Given the description of an element on the screen output the (x, y) to click on. 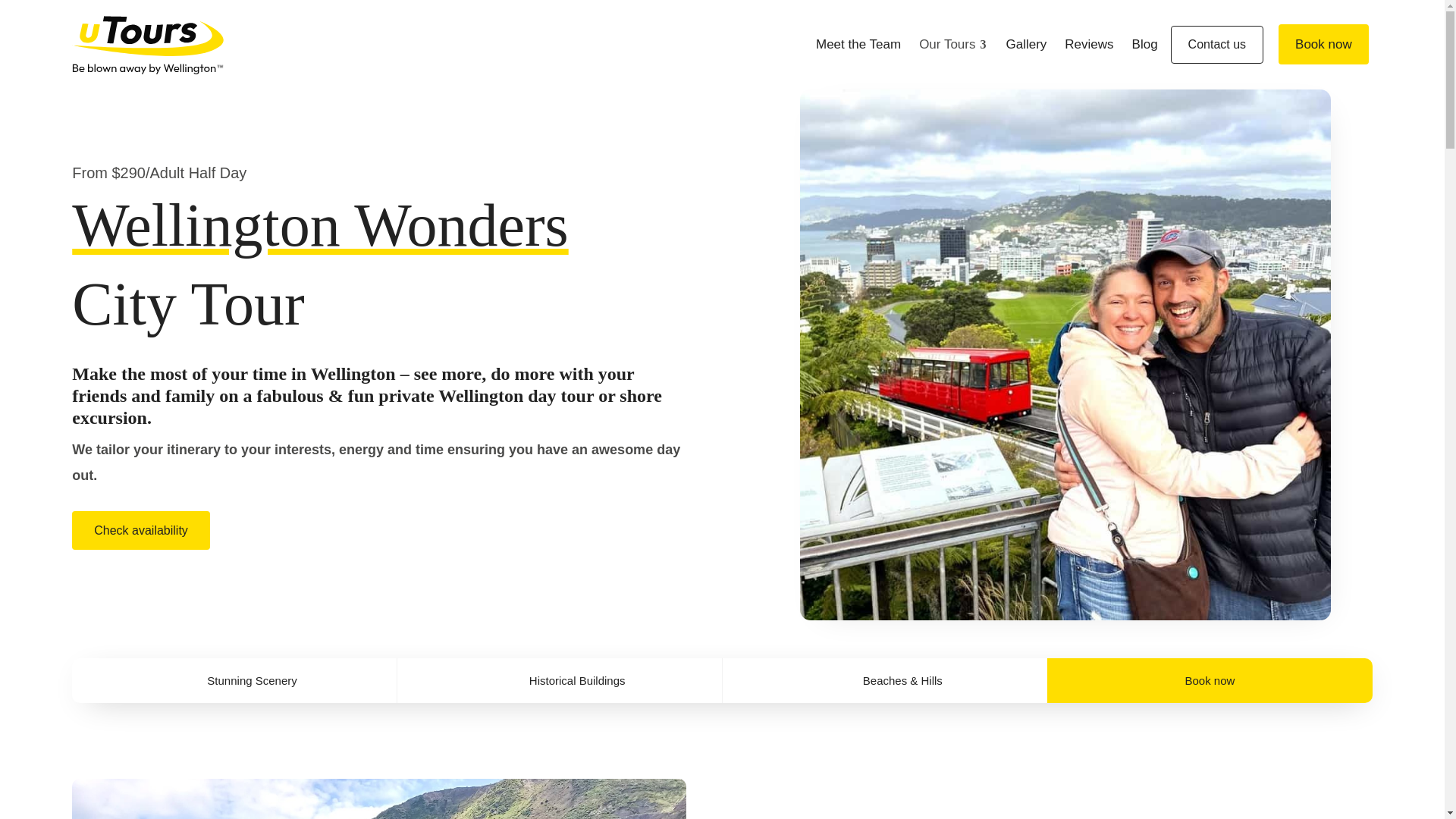
Book now (1323, 44)
Reviews (1088, 43)
Our Tours (952, 43)
Meet the Team (858, 43)
Gallery (1025, 43)
Contact us (1216, 44)
Blog (1144, 43)
Check availability (140, 530)
Book now (1209, 680)
